Given the description of an element on the screen output the (x, y) to click on. 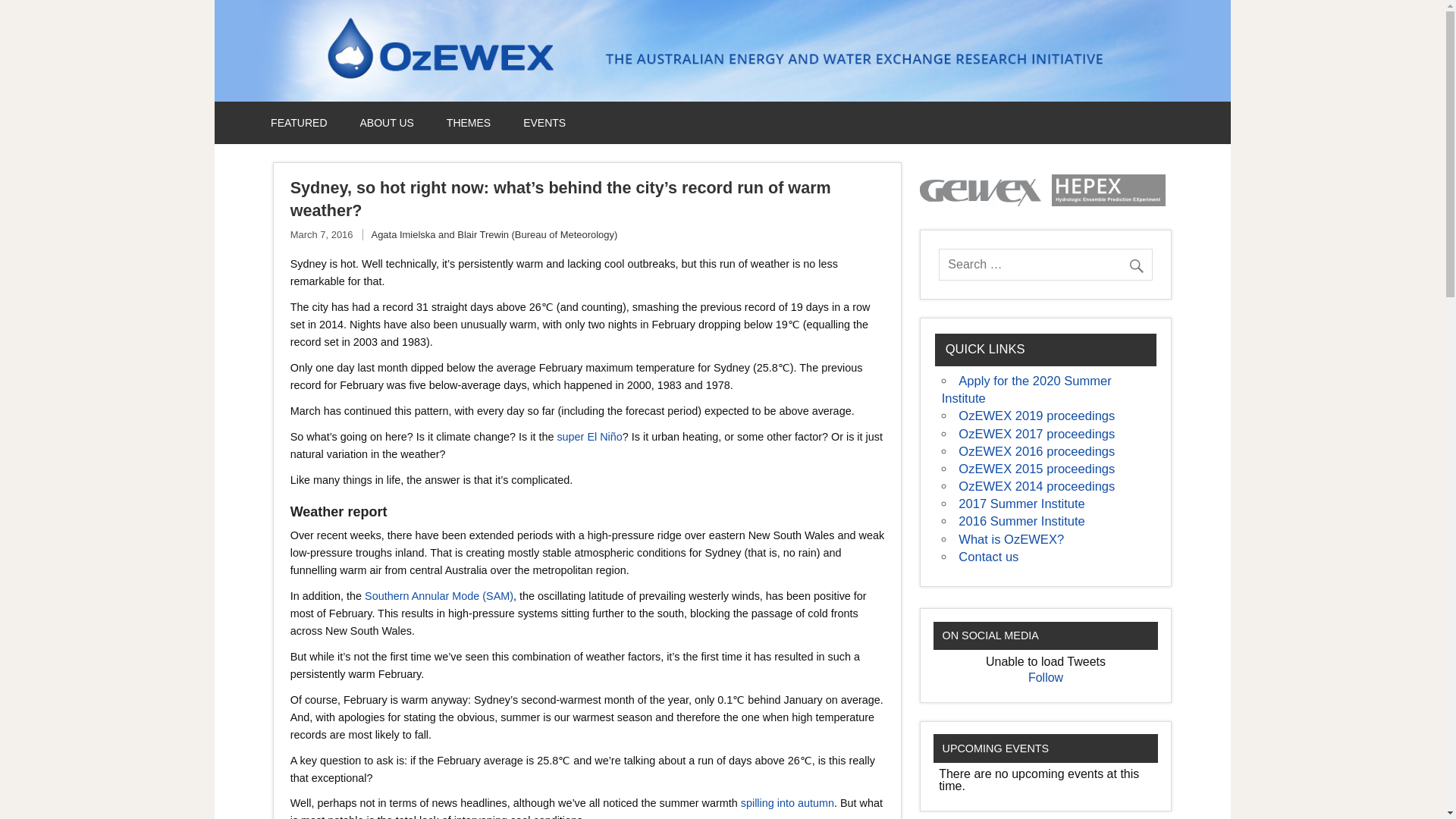
ABOUT US (386, 122)
EVENTS (543, 122)
OzEWEX 2017 proceedings (1036, 432)
FEATURED (298, 122)
OzEWEX 2019 proceedings (1036, 415)
11:18 pm (321, 234)
Apply for the 2020 Summer Institute (1027, 389)
March 7, 2016 (321, 234)
THEMES (468, 122)
spilling into autumn (787, 802)
